Given the description of an element on the screen output the (x, y) to click on. 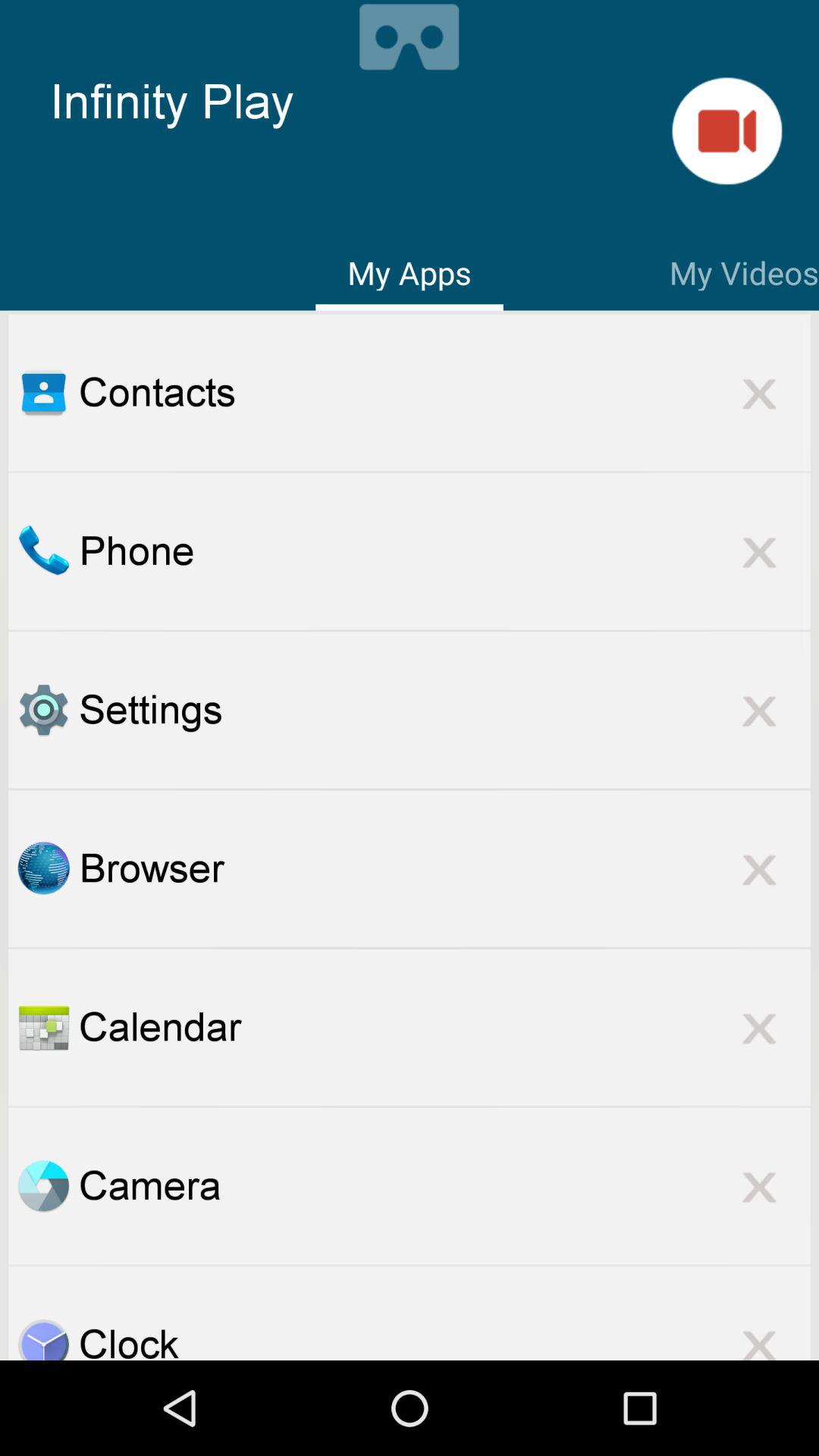
select item to the right of my apps icon (744, 270)
